Given the description of an element on the screen output the (x, y) to click on. 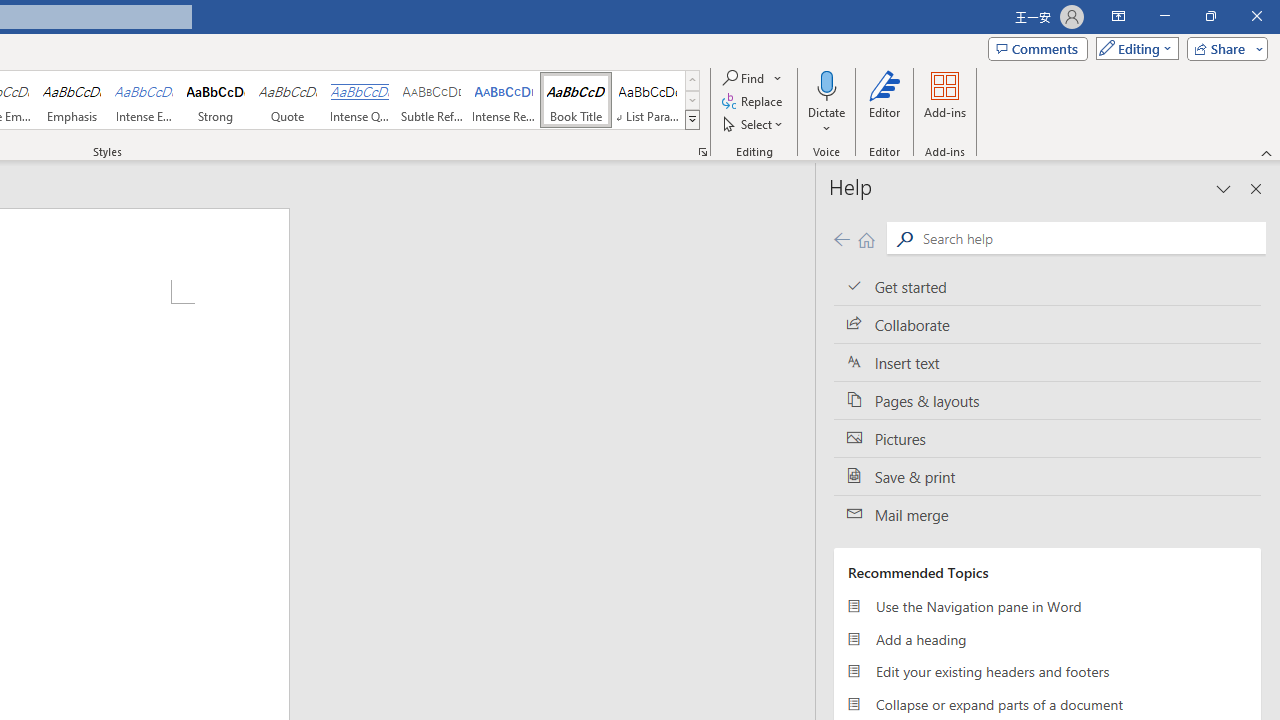
Find (744, 78)
Quote (287, 100)
Minimize (1164, 16)
Subtle Reference (431, 100)
Dictate (826, 84)
Restore Down (1210, 16)
Add a heading (1047, 638)
Select (754, 124)
Emphasis (71, 100)
Strong (216, 100)
Mail merge (1047, 515)
Find (753, 78)
Insert text (1047, 363)
Ribbon Display Options (1118, 16)
Styles... (702, 151)
